Given the description of an element on the screen output the (x, y) to click on. 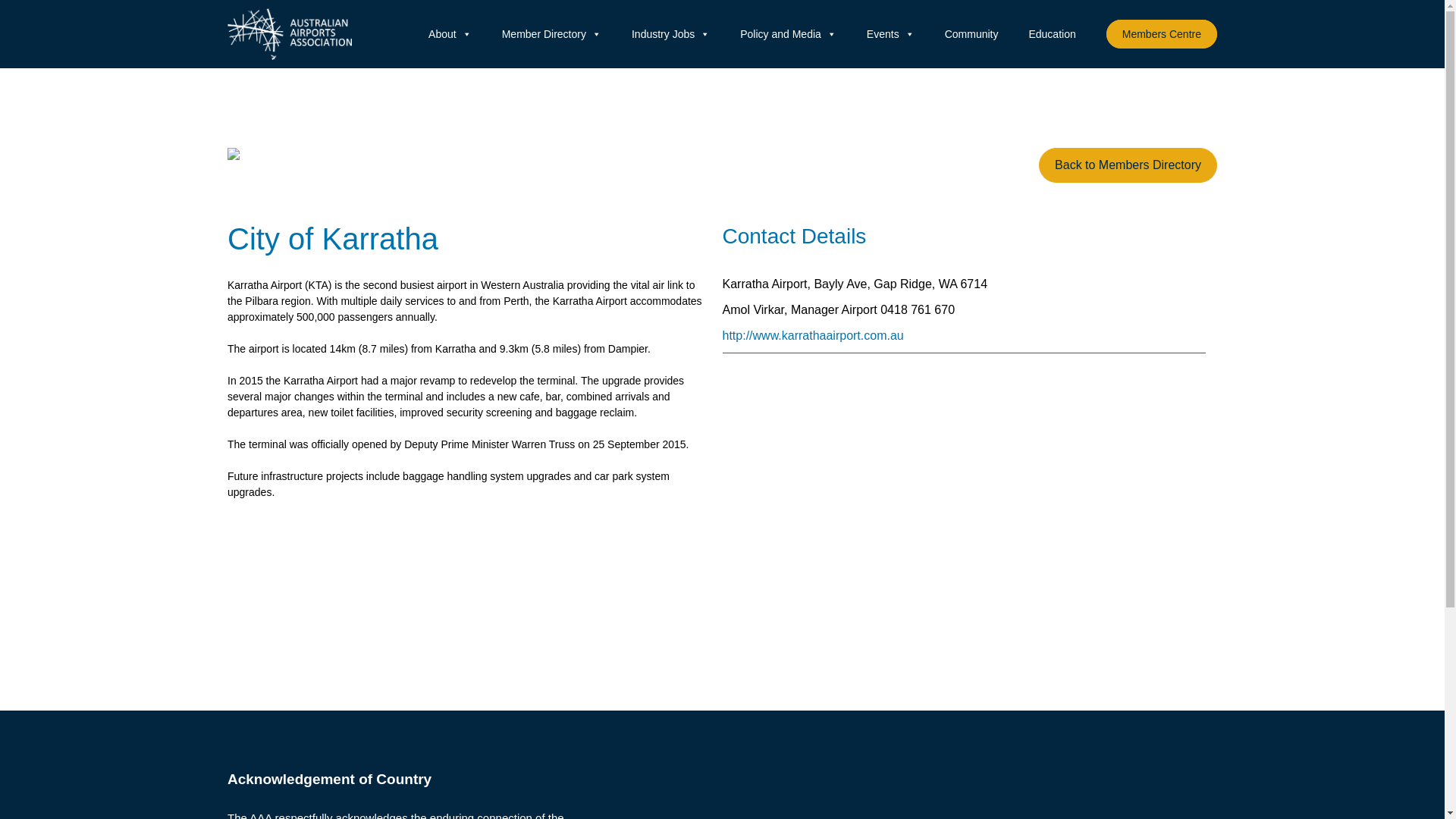
About (449, 33)
